Given the description of an element on the screen output the (x, y) to click on. 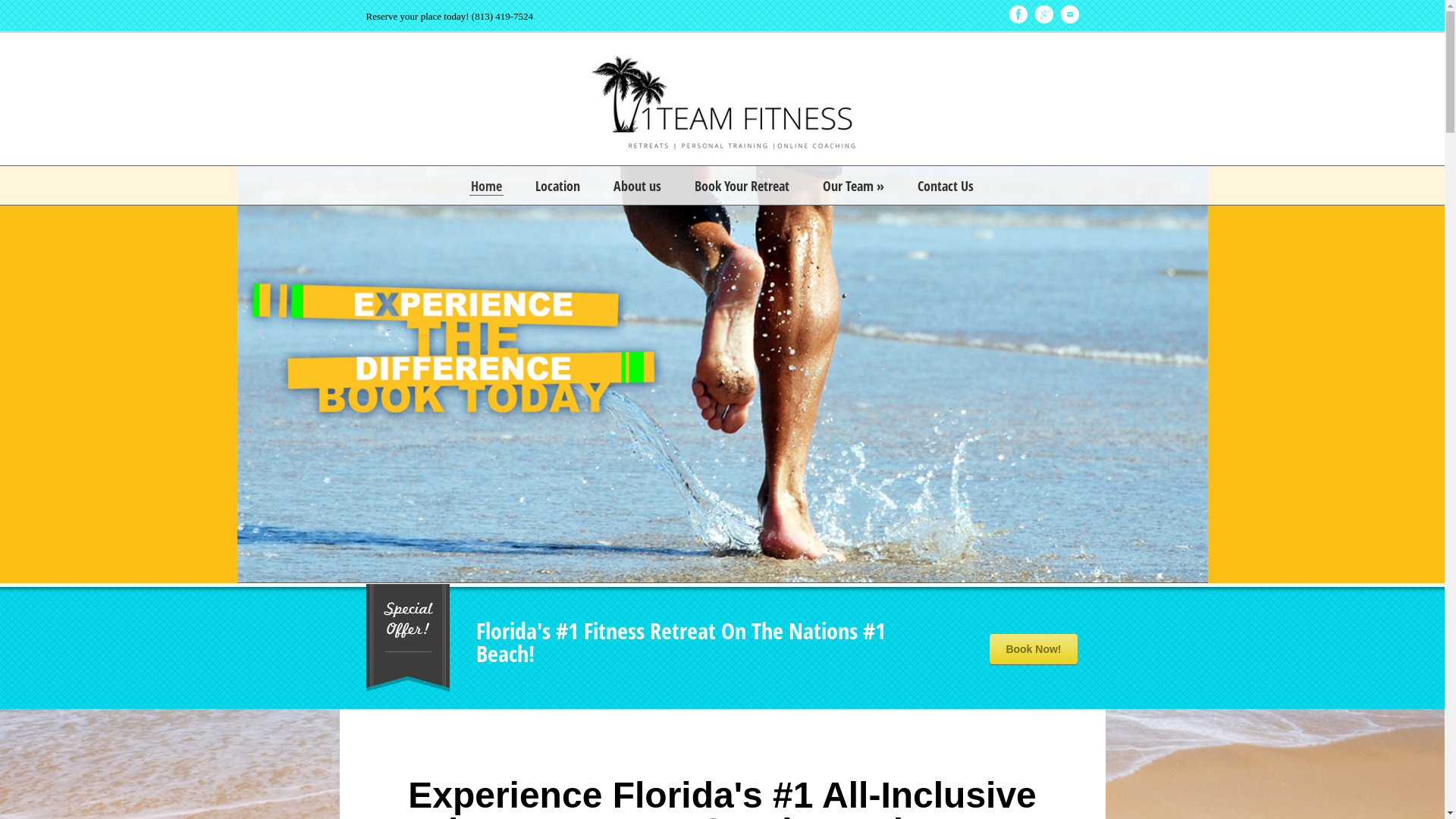
Contact Us Element type: text (945, 185)
Book Now! Element type: text (1032, 648)
Home Element type: text (486, 185)
Book Your Retreat Element type: text (741, 185)
Location Element type: text (557, 185)
About us Element type: text (636, 185)
